Given the description of an element on the screen output the (x, y) to click on. 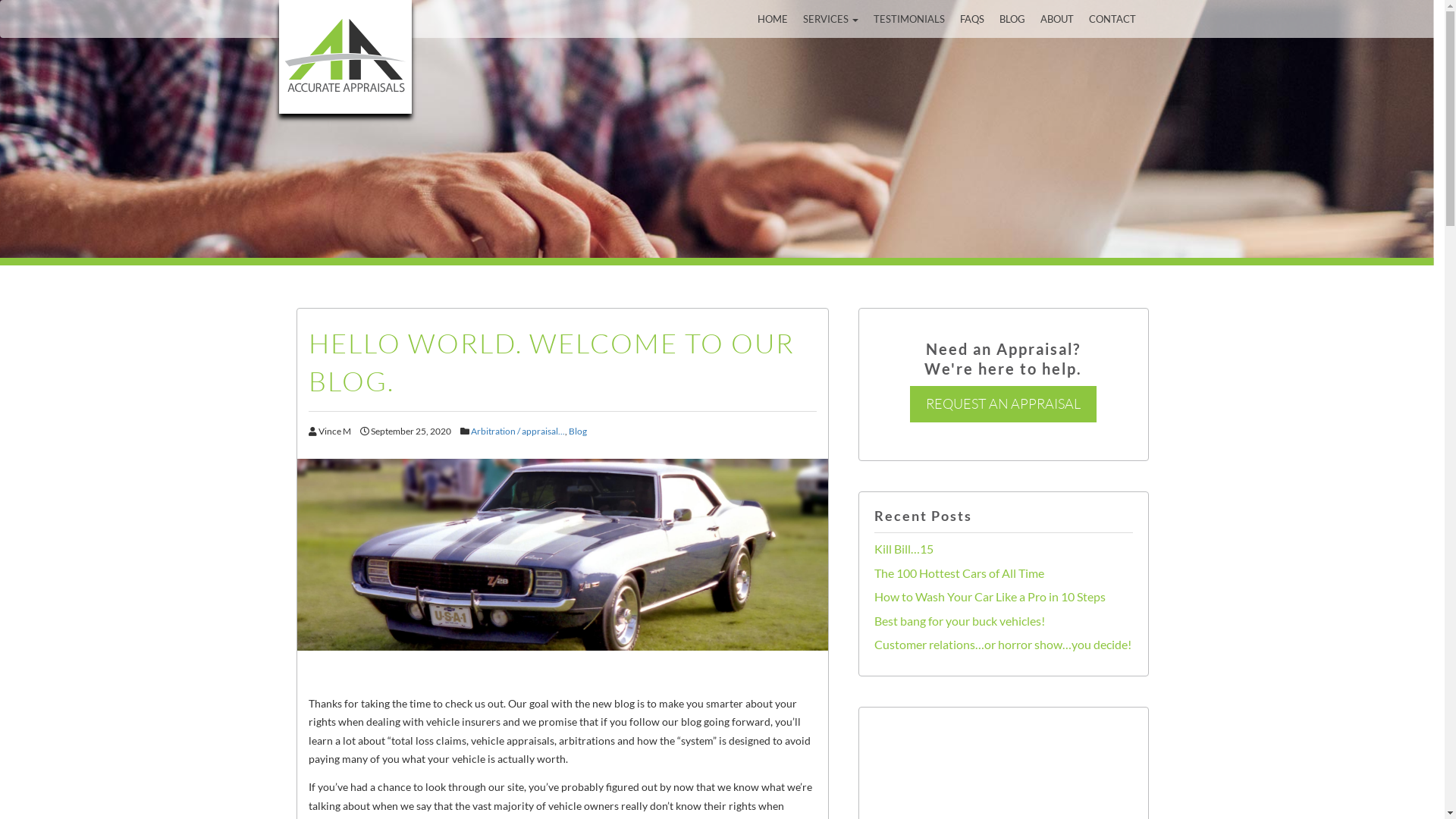
SERVICES Element type: text (829, 18)
BLOG Element type: text (1011, 18)
Blog Element type: text (577, 430)
ABOUT Element type: text (1056, 18)
Best bang for your buck vehicles! Element type: text (958, 620)
CONTACT Element type: text (1112, 18)
HOME Element type: text (771, 18)
FAQS Element type: text (971, 18)
TESTIMONIALS Element type: text (909, 18)
Arbitration / appraisal... Element type: text (517, 430)
How to Wash Your Car Like a Pro in 10 Steps Element type: text (988, 596)
REQUEST AN APPRAISAL Element type: text (1003, 403)
The 100 Hottest Cars of All Time Element type: text (958, 572)
